Given the description of an element on the screen output the (x, y) to click on. 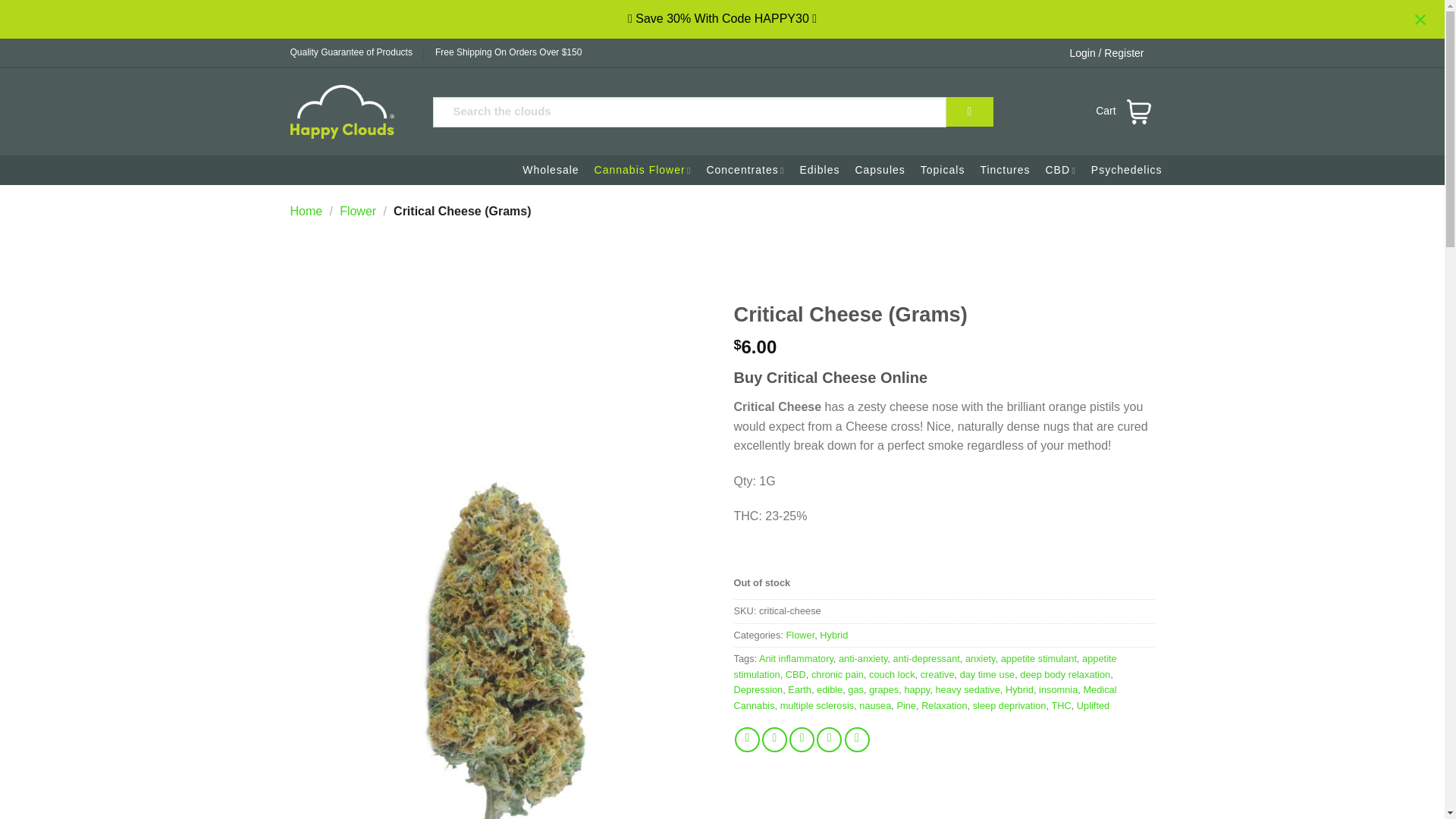
Share on Twitter (774, 739)
Flower (357, 210)
Cannabis Flower (639, 169)
CBD (1055, 169)
Share on LinkedIn (856, 739)
Psychedelics (1123, 169)
Pin on Pinterest (828, 739)
Search (969, 111)
Cart (1115, 111)
Wholesale (546, 169)
Flower (799, 634)
Cart (1115, 111)
Home (305, 210)
Tinctures (1000, 169)
Happy Clouds (349, 111)
